Given the description of an element on the screen output the (x, y) to click on. 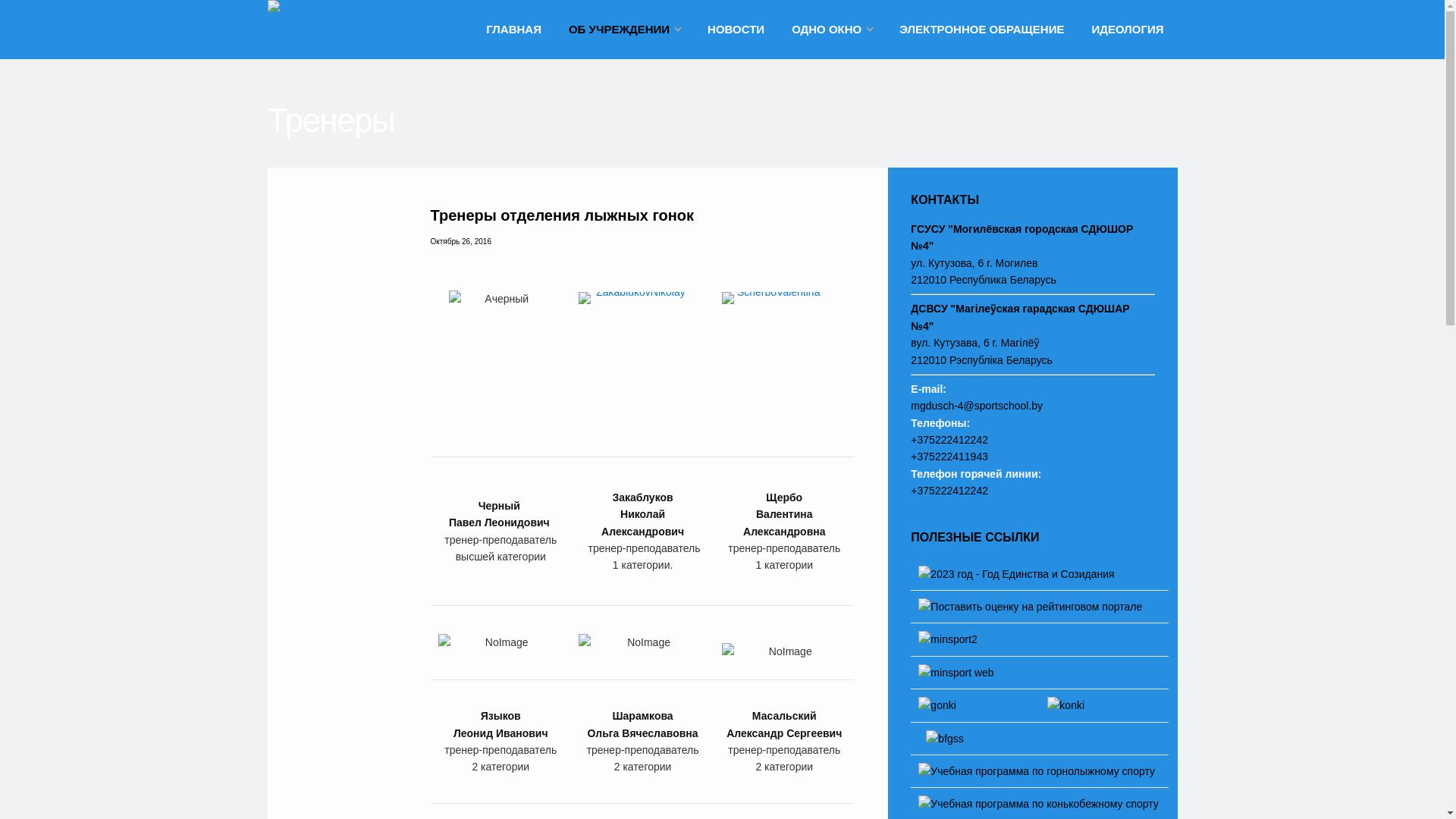
mgdusch-4@sportschool.by Element type: text (976, 405)
